Given the description of an element on the screen output the (x, y) to click on. 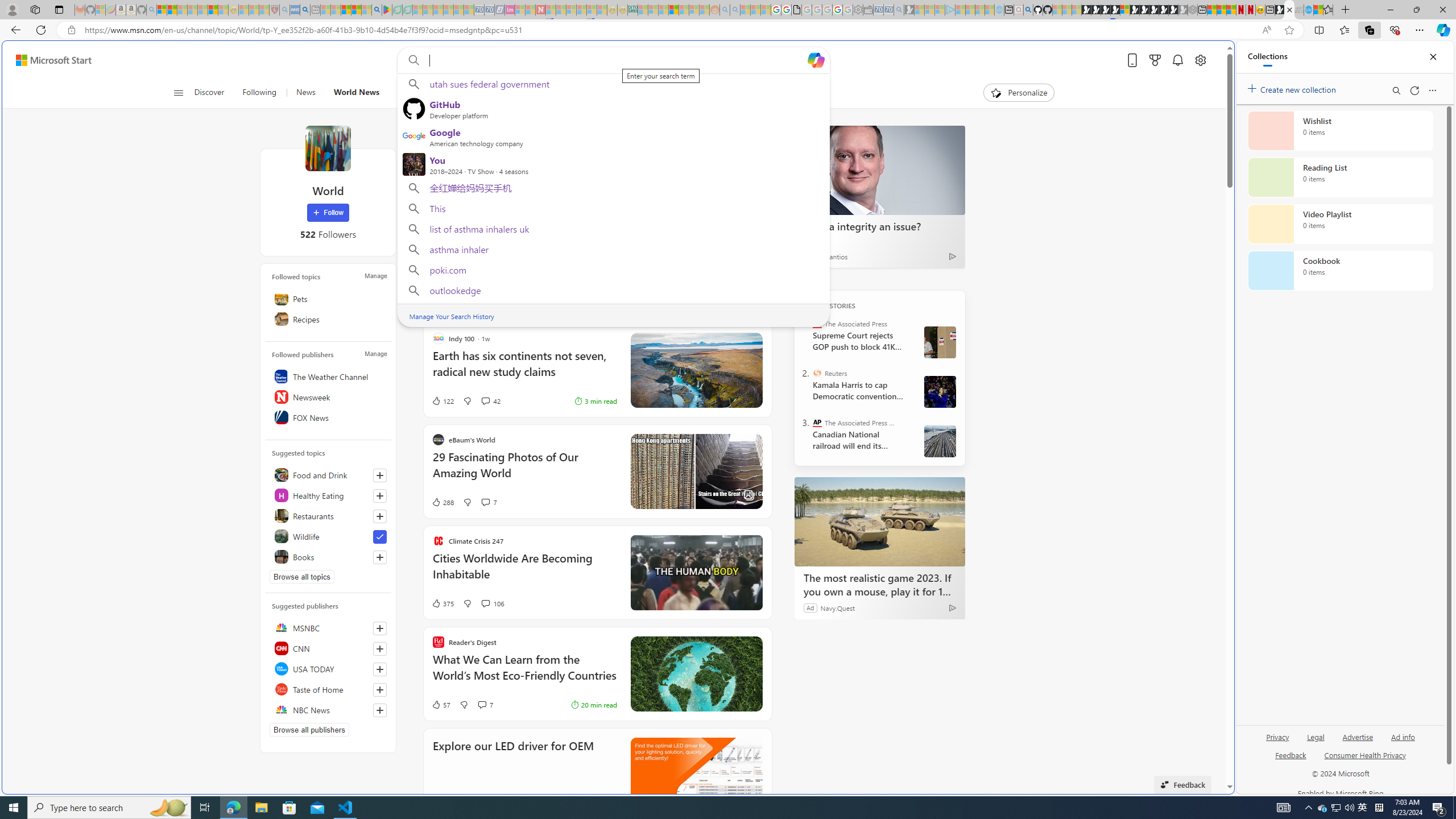
Frequently visited (965, 151)
Tabs you've opened (885, 151)
